Given the description of an element on the screen output the (x, y) to click on. 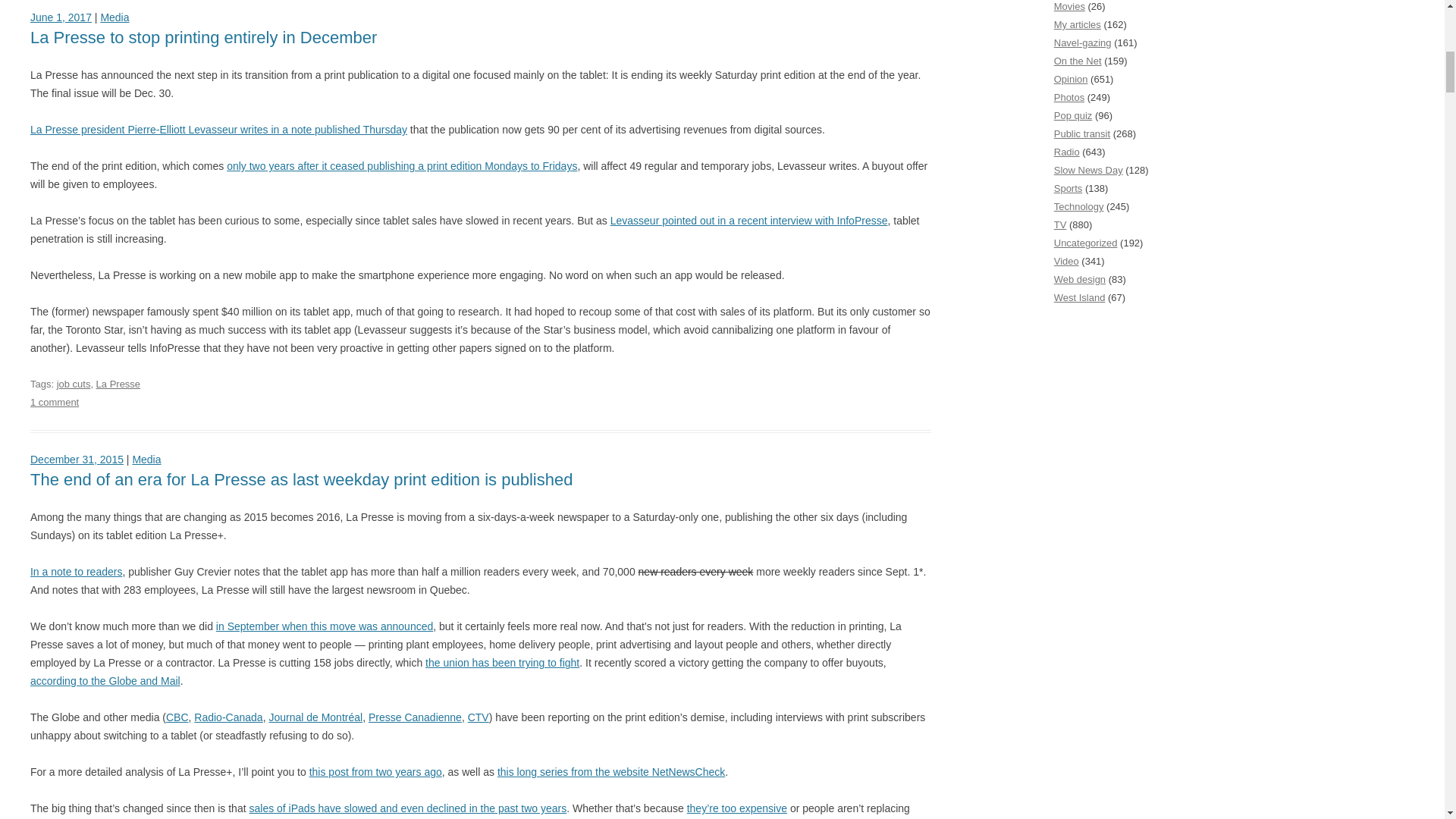
the union has been trying to fight (502, 662)
December 31, 2015 (76, 459)
Media (146, 459)
Levasseur pointed out in a recent interview with InfoPresse (749, 220)
this post from two years ago (375, 771)
job cuts (73, 383)
11:59 am (76, 459)
according to the Globe and Mail (105, 680)
In a note to readers (76, 571)
in September when this move was announced (323, 625)
Presse Canadienne (414, 717)
this long series from the website NetNewsCheck (611, 771)
Media (114, 17)
